Given the description of an element on the screen output the (x, y) to click on. 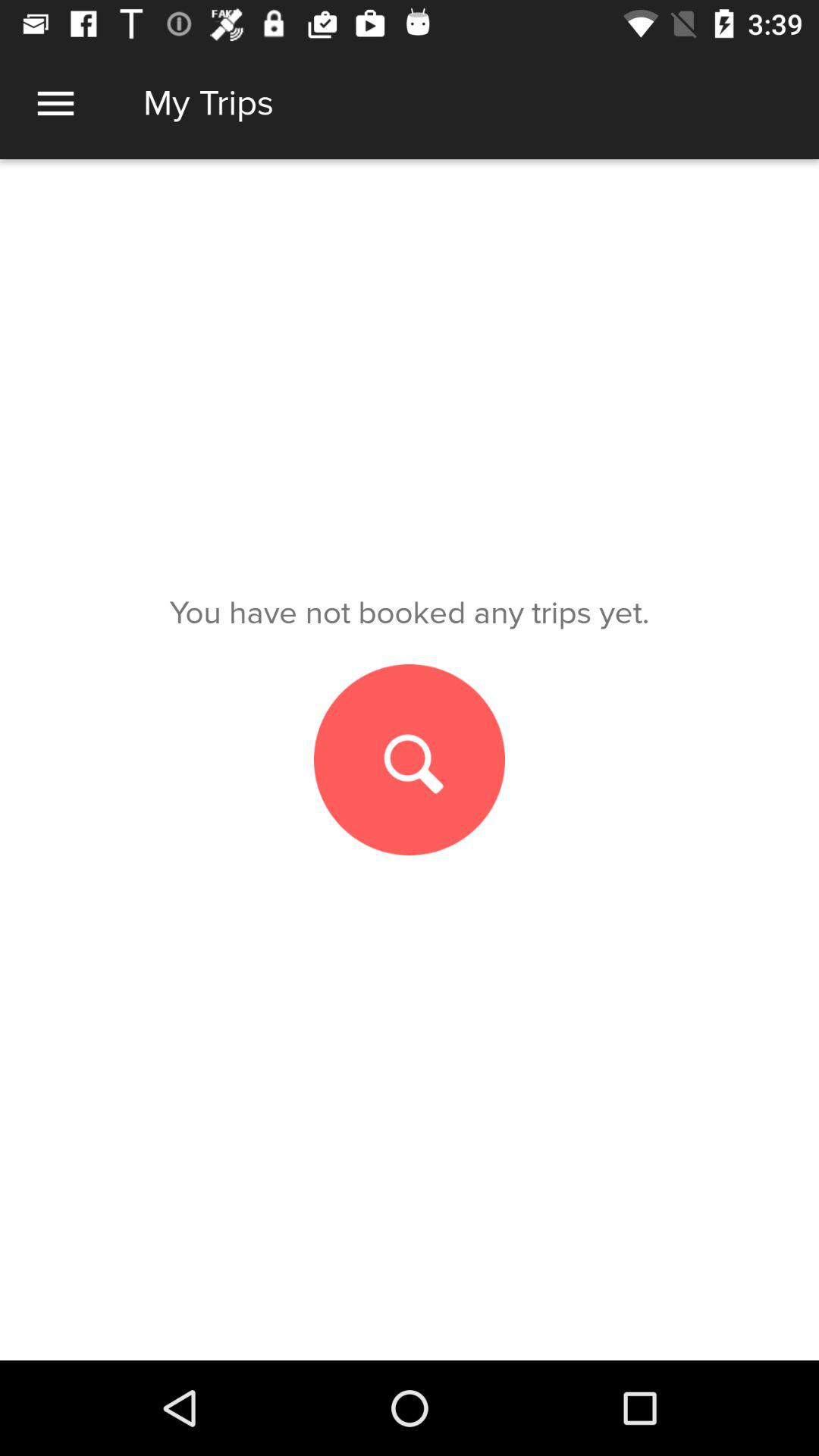
tap the icon to the left of my trips (55, 103)
